Given the description of an element on the screen output the (x, y) to click on. 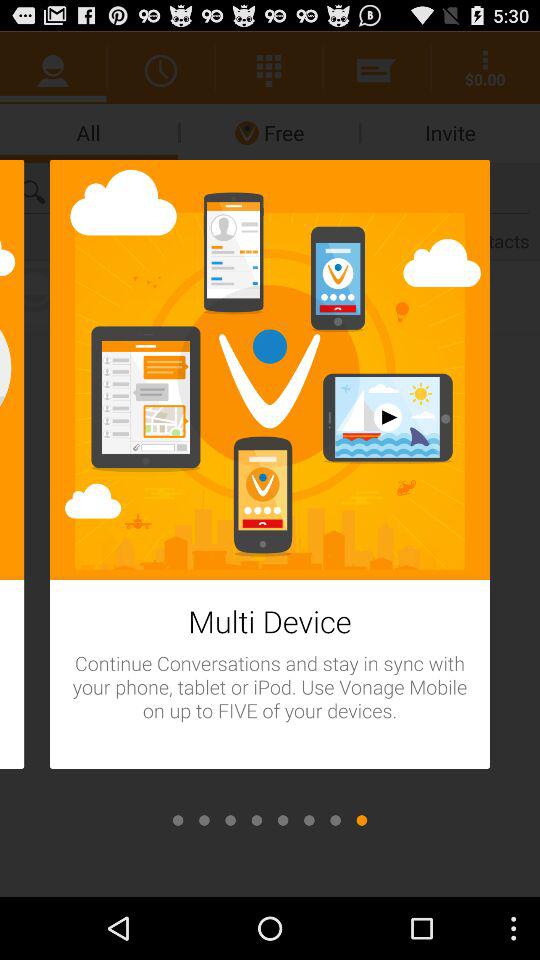
open tabs (283, 820)
